Given the description of an element on the screen output the (x, y) to click on. 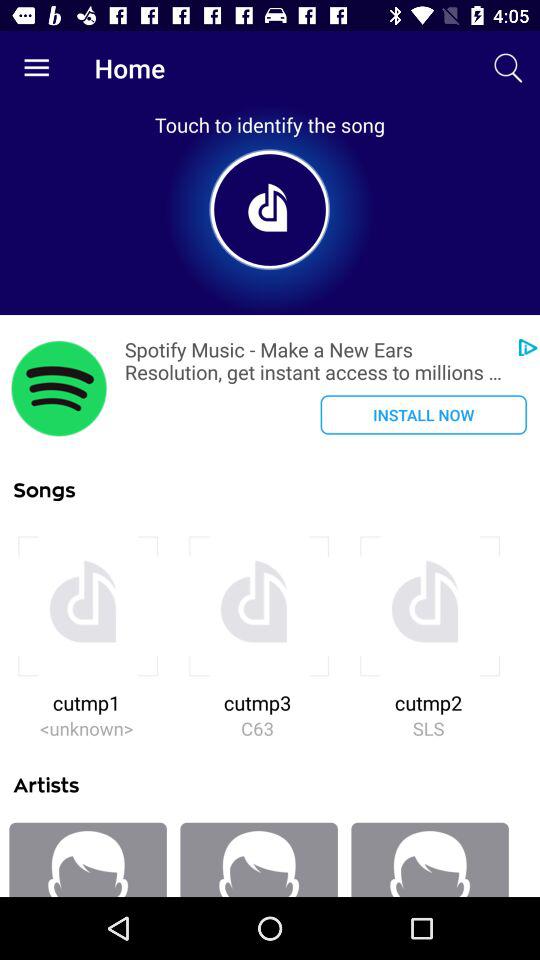
open the icon at the top right corner (508, 67)
